Given the description of an element on the screen output the (x, y) to click on. 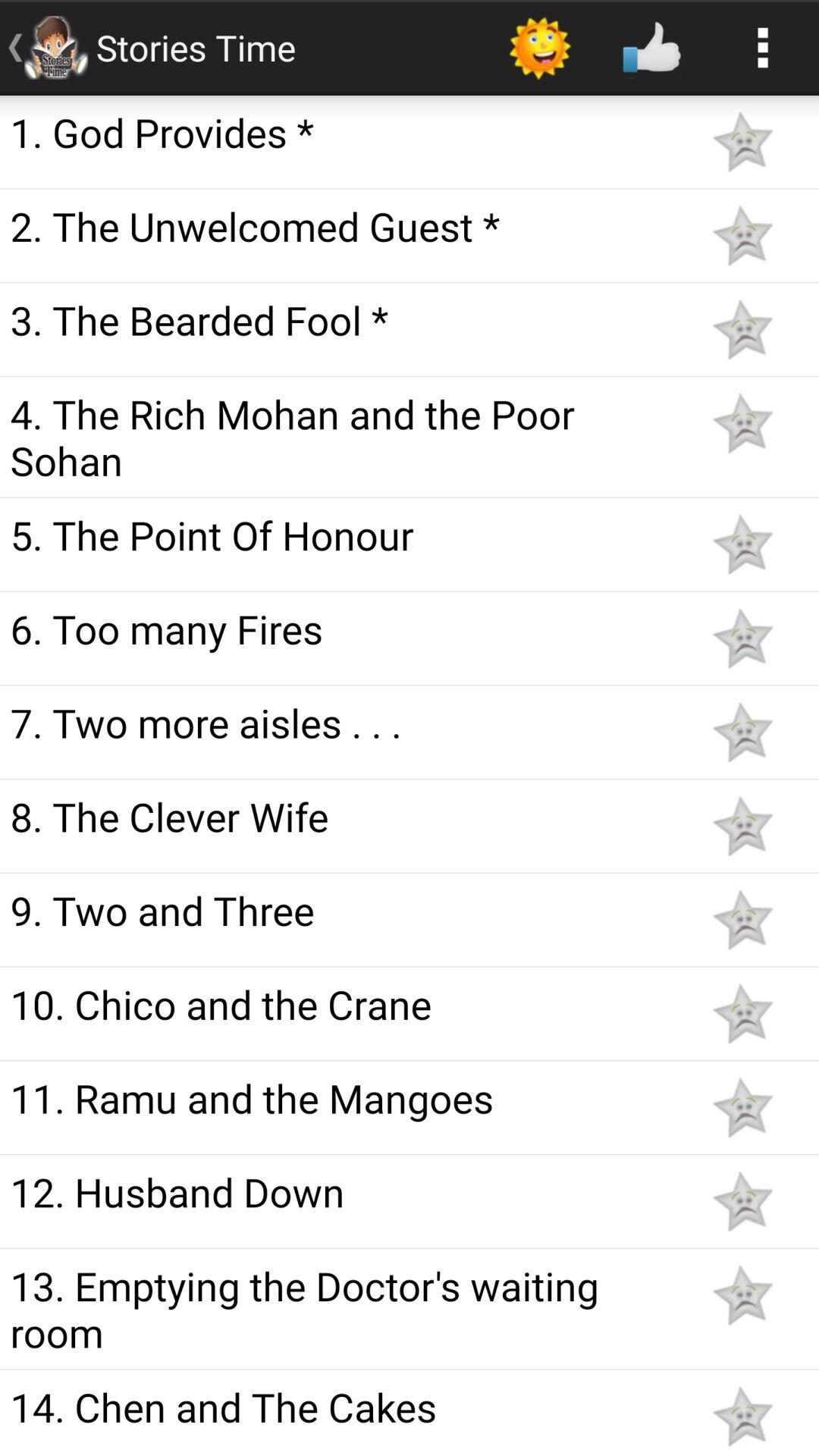
scroll until 14 chen and icon (343, 1406)
